Given the description of an element on the screen output the (x, y) to click on. 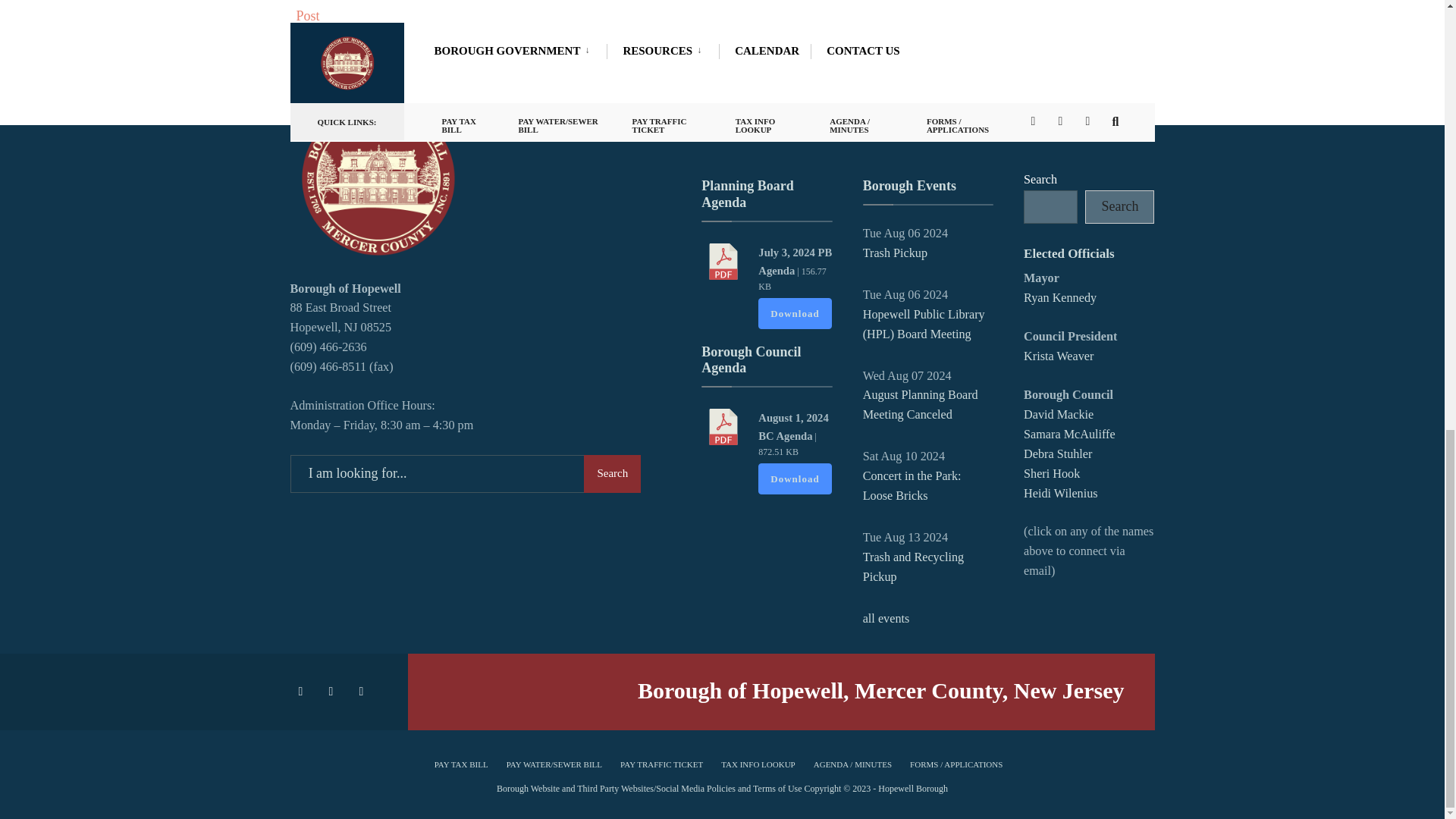
all events (886, 618)
I am looking for... (464, 474)
